Given the description of an element on the screen output the (x, y) to click on. 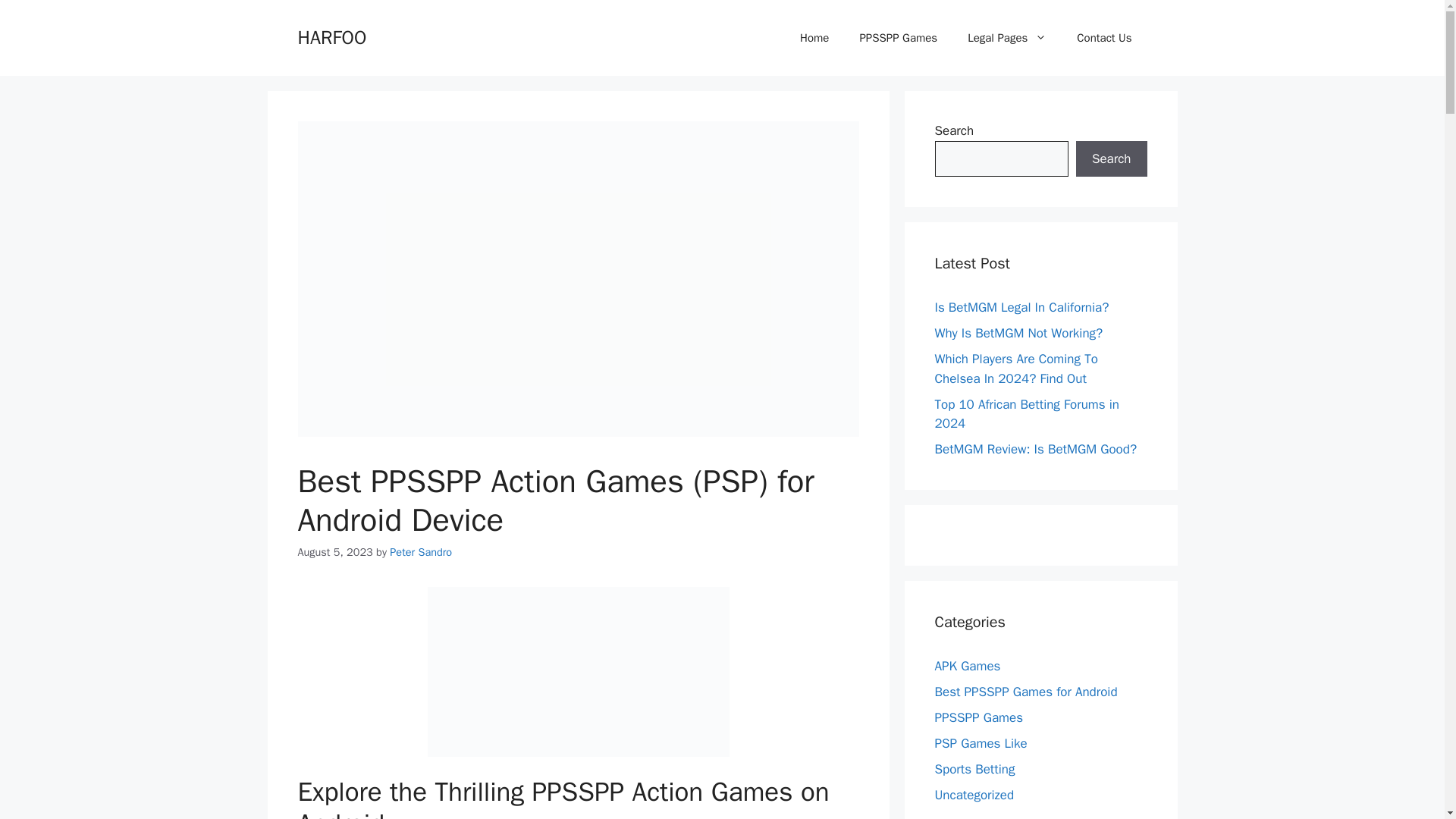
Peter Sandro (420, 551)
Which Players Are Coming To Chelsea In 2024? Find Out (1015, 368)
APK Games (967, 666)
PPSSPP Games (898, 37)
BetMGM Review: Is BetMGM Good? (1035, 449)
Legal Pages (1006, 37)
HARFOO (331, 37)
Is BetMGM Legal In California? (1021, 307)
View all posts by Peter Sandro (420, 551)
Contact Us (1104, 37)
